Given the description of an element on the screen output the (x, y) to click on. 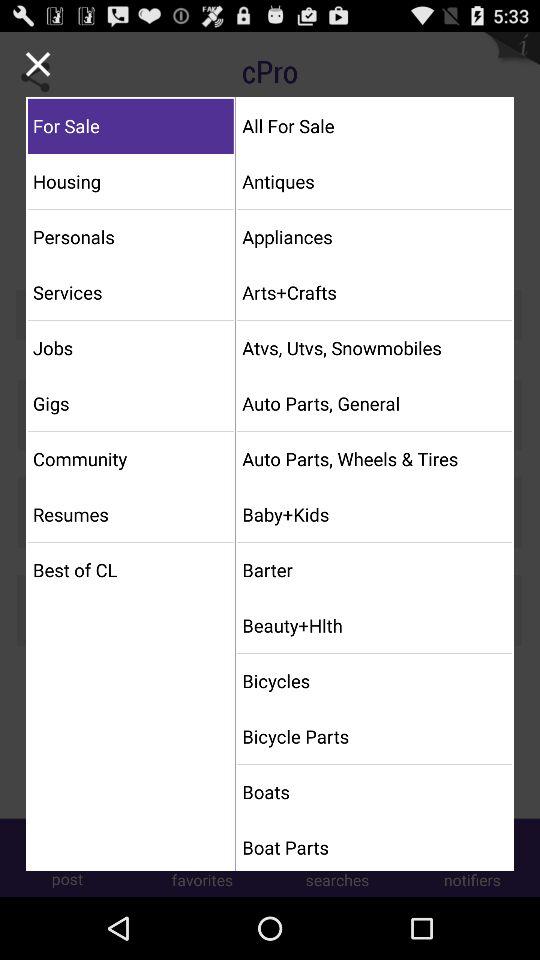
click icon above beauty+hlth item (374, 569)
